Given the description of an element on the screen output the (x, y) to click on. 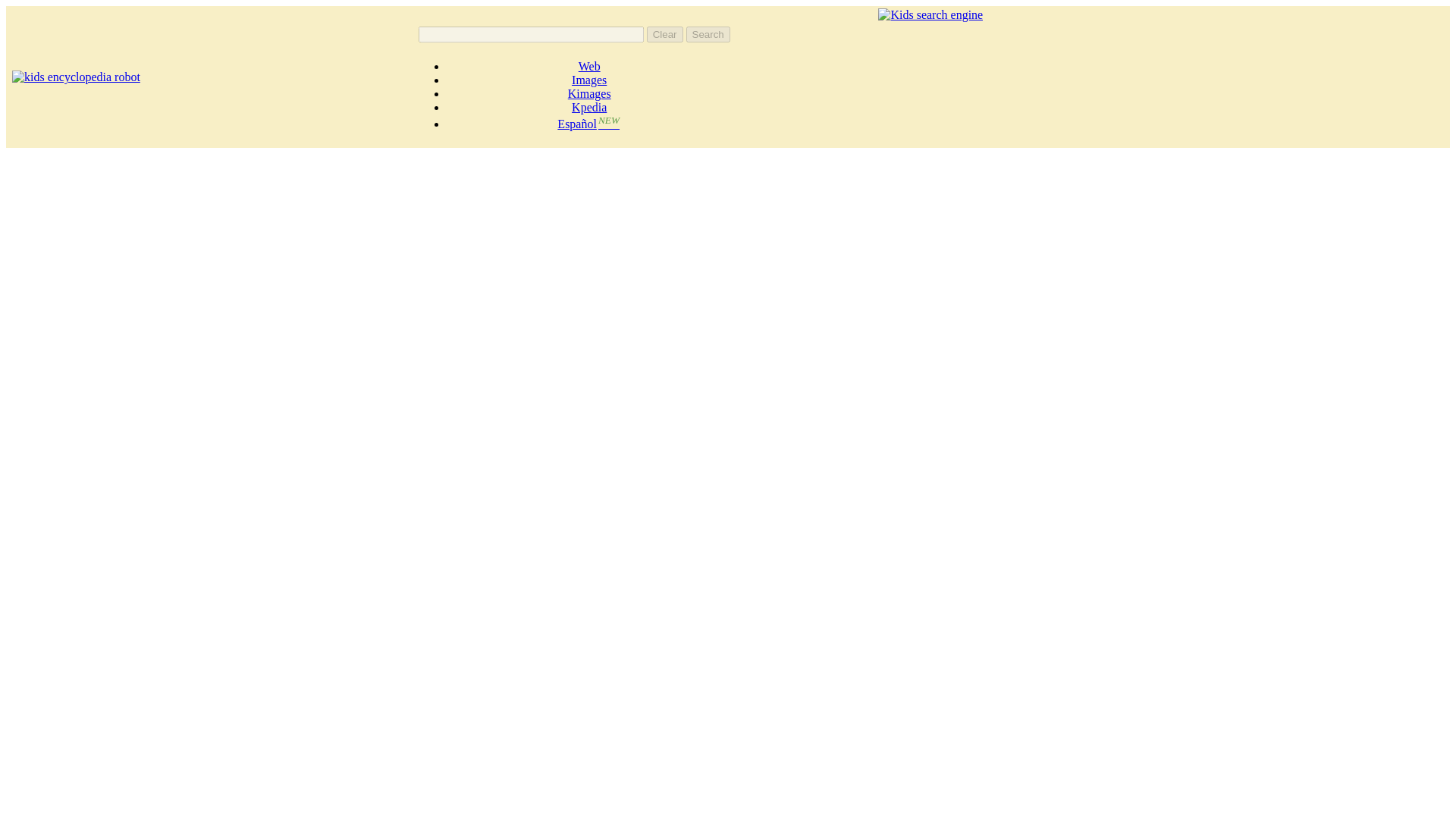
Clear (664, 34)
Kimages (589, 92)
Web (588, 65)
Kpedia (589, 106)
Search (707, 34)
Images (589, 79)
